Given the description of an element on the screen output the (x, y) to click on. 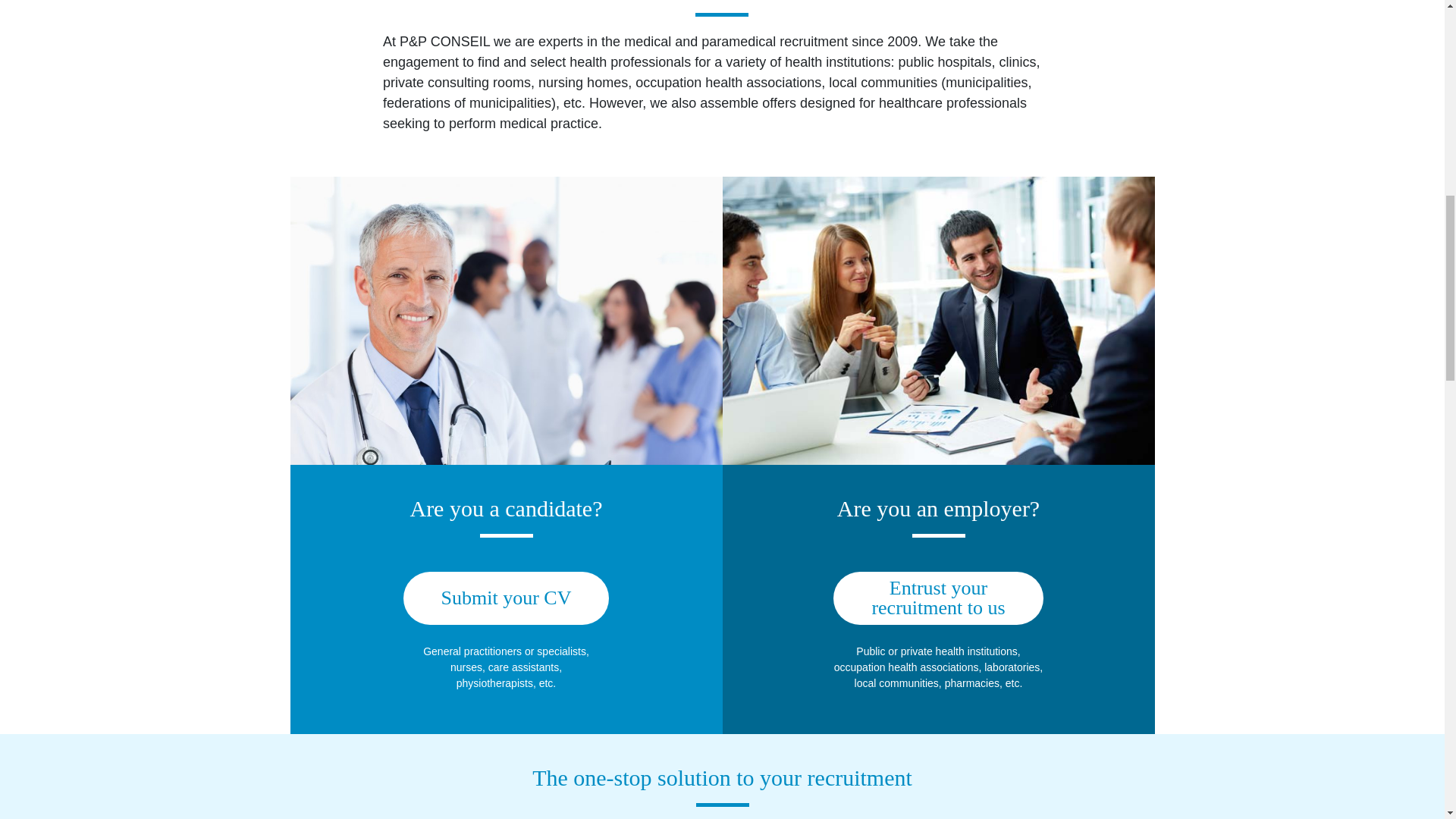
Submit your CV (937, 597)
